Given the description of an element on the screen output the (x, y) to click on. 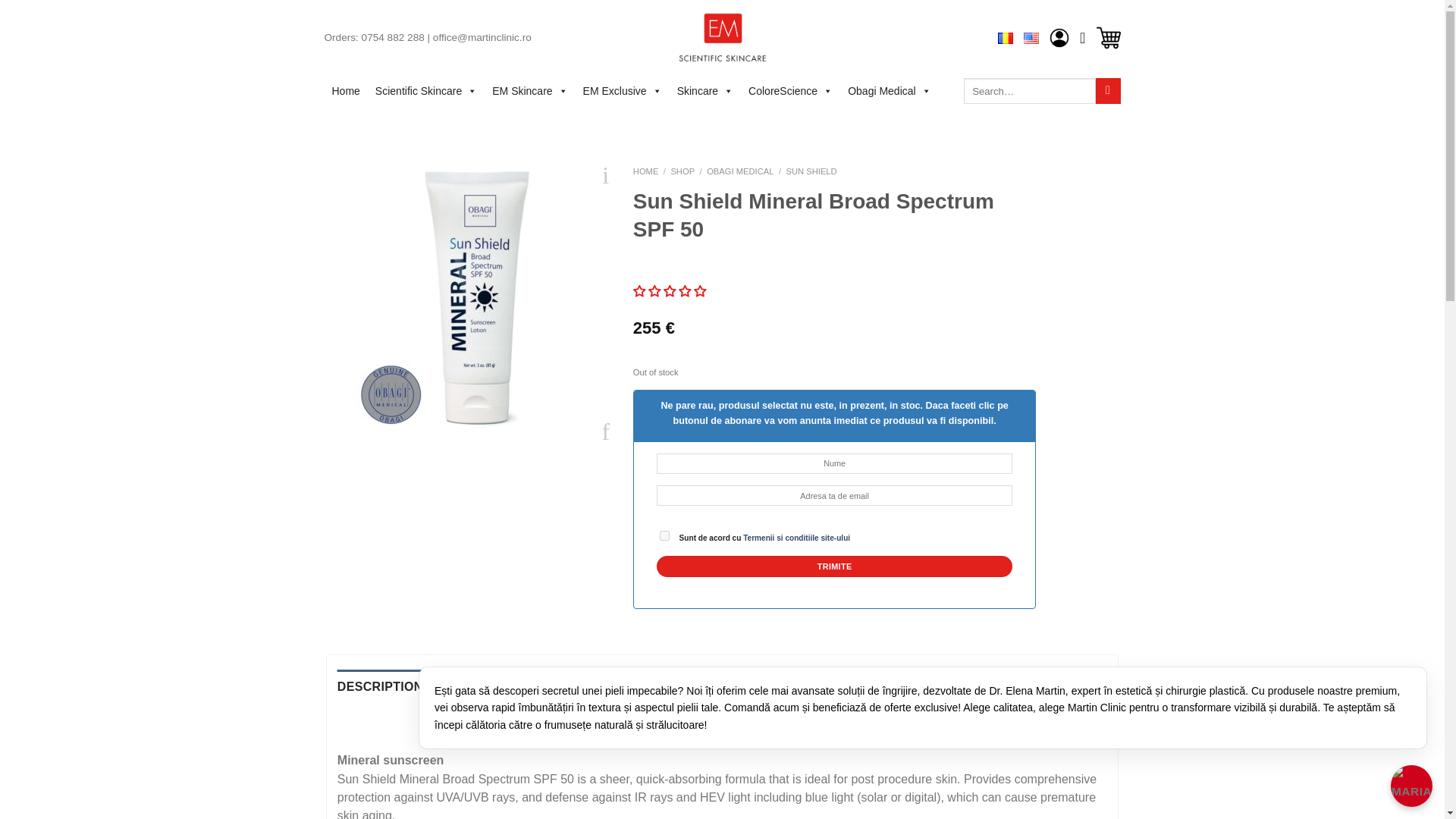
Skincare (705, 91)
Martin Clinic - Martin Clinic (722, 37)
1 (664, 535)
Scientific Skincare (426, 91)
EM Exclusive (622, 91)
Trimite (834, 566)
EM Skincare (529, 91)
Home (346, 91)
Sun Shield Mineral Broad Spectrum SPF 50-k (477, 303)
